Given the description of an element on the screen output the (x, y) to click on. 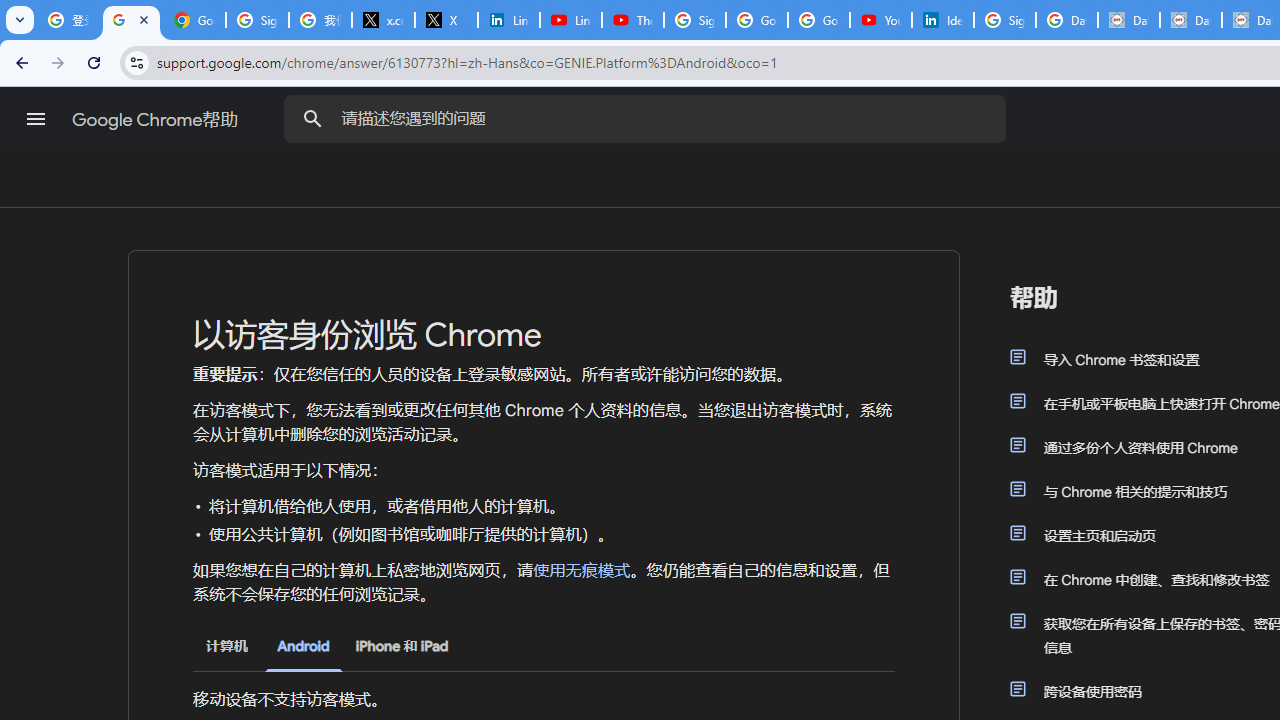
Data Privacy Framework (1190, 20)
LinkedIn - YouTube (570, 20)
